Given the description of an element on the screen output the (x, y) to click on. 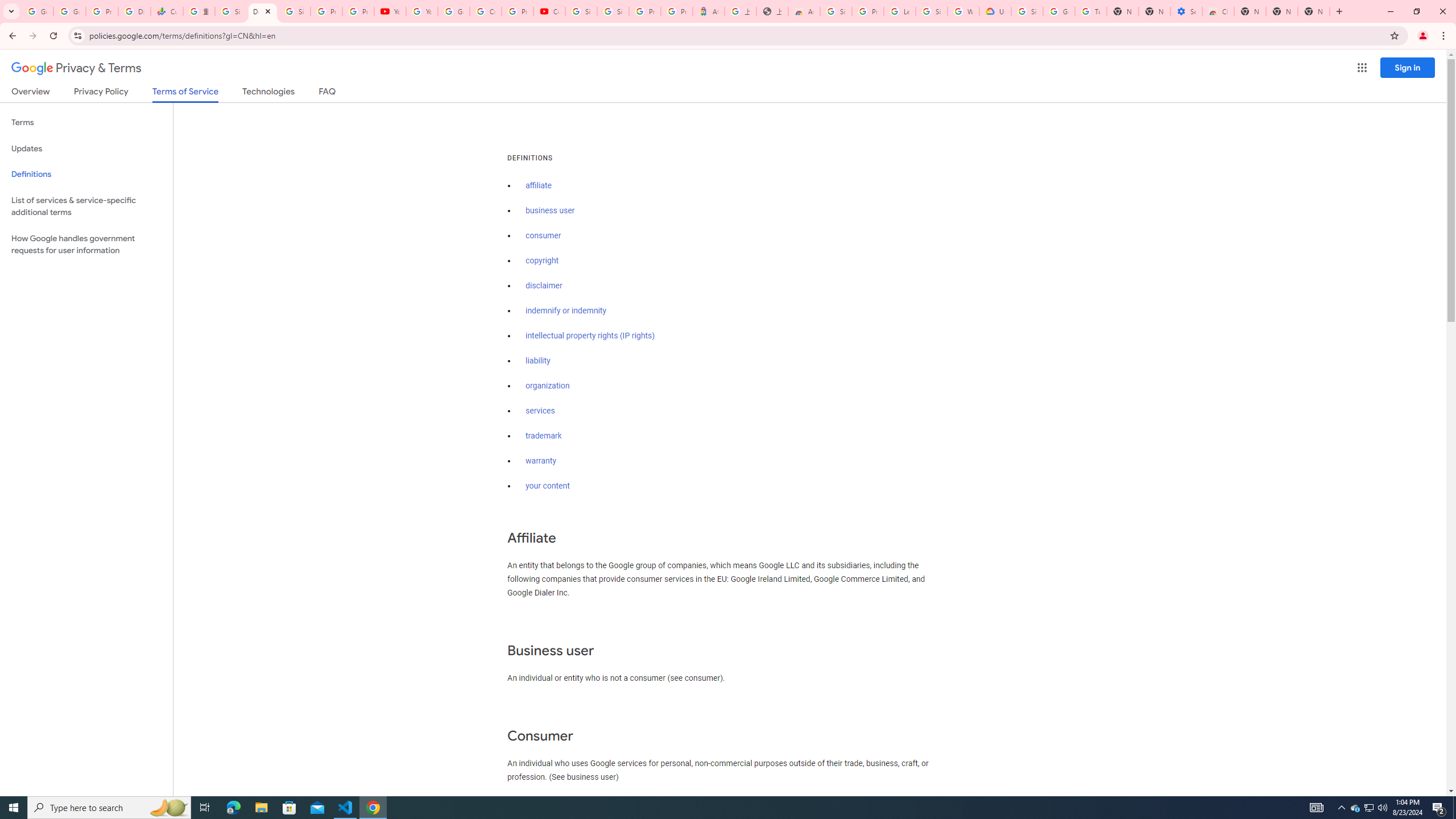
Settings - Accessibility (1185, 11)
intellectual property rights (IP rights) (590, 335)
Awesome Screen Recorder & Screenshot - Chrome Web Store (804, 11)
your content (547, 486)
Google Account Help (1059, 11)
Privacy Checkup (358, 11)
copyright (542, 260)
